Given the description of an element on the screen output the (x, y) to click on. 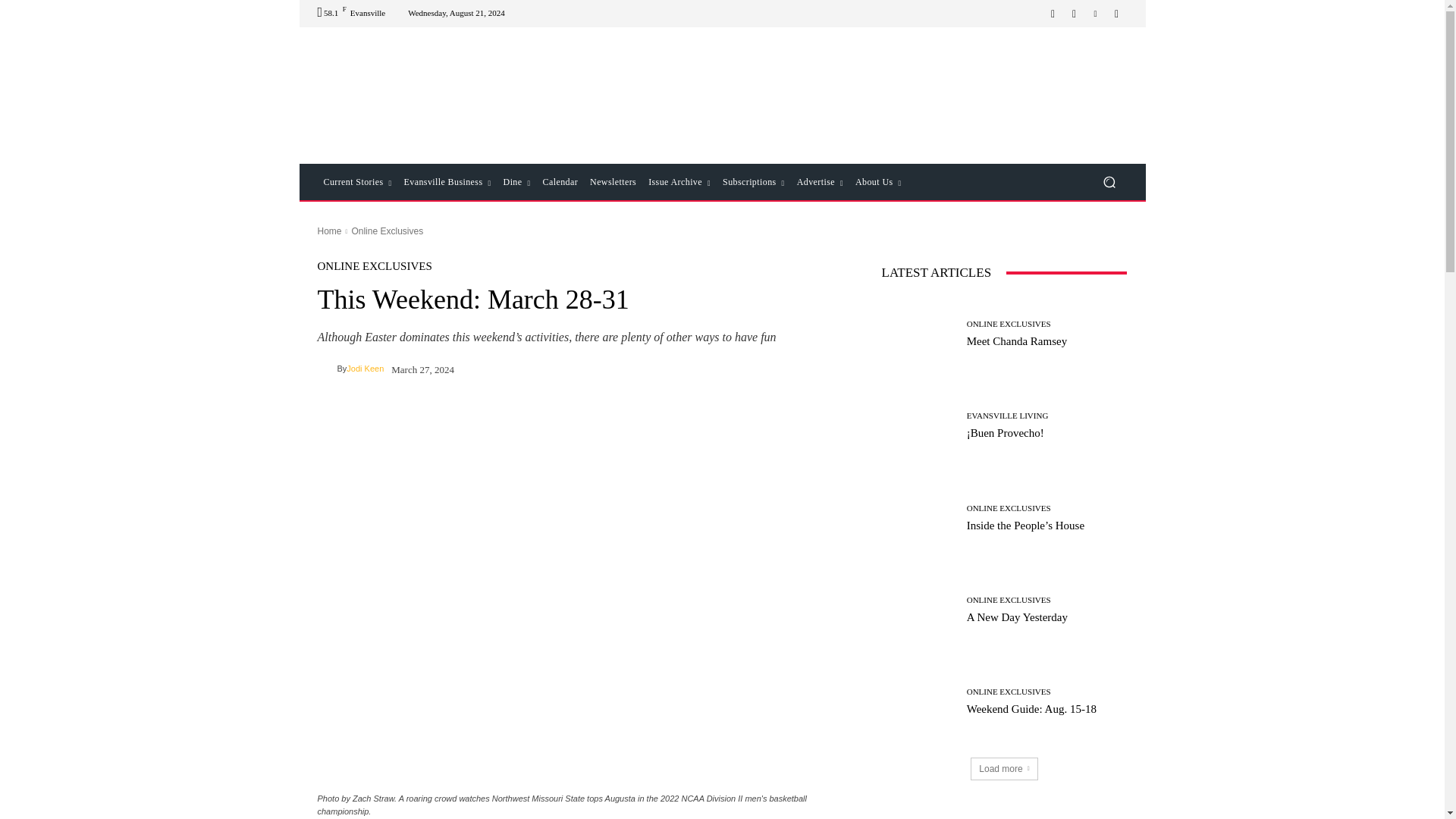
Linkedin (1094, 13)
Twitter (1115, 13)
Facebook (1052, 13)
Jodi Keen (326, 368)
View all posts in Online Exclusives (386, 231)
Instagram (1073, 13)
